Given the description of an element on the screen output the (x, y) to click on. 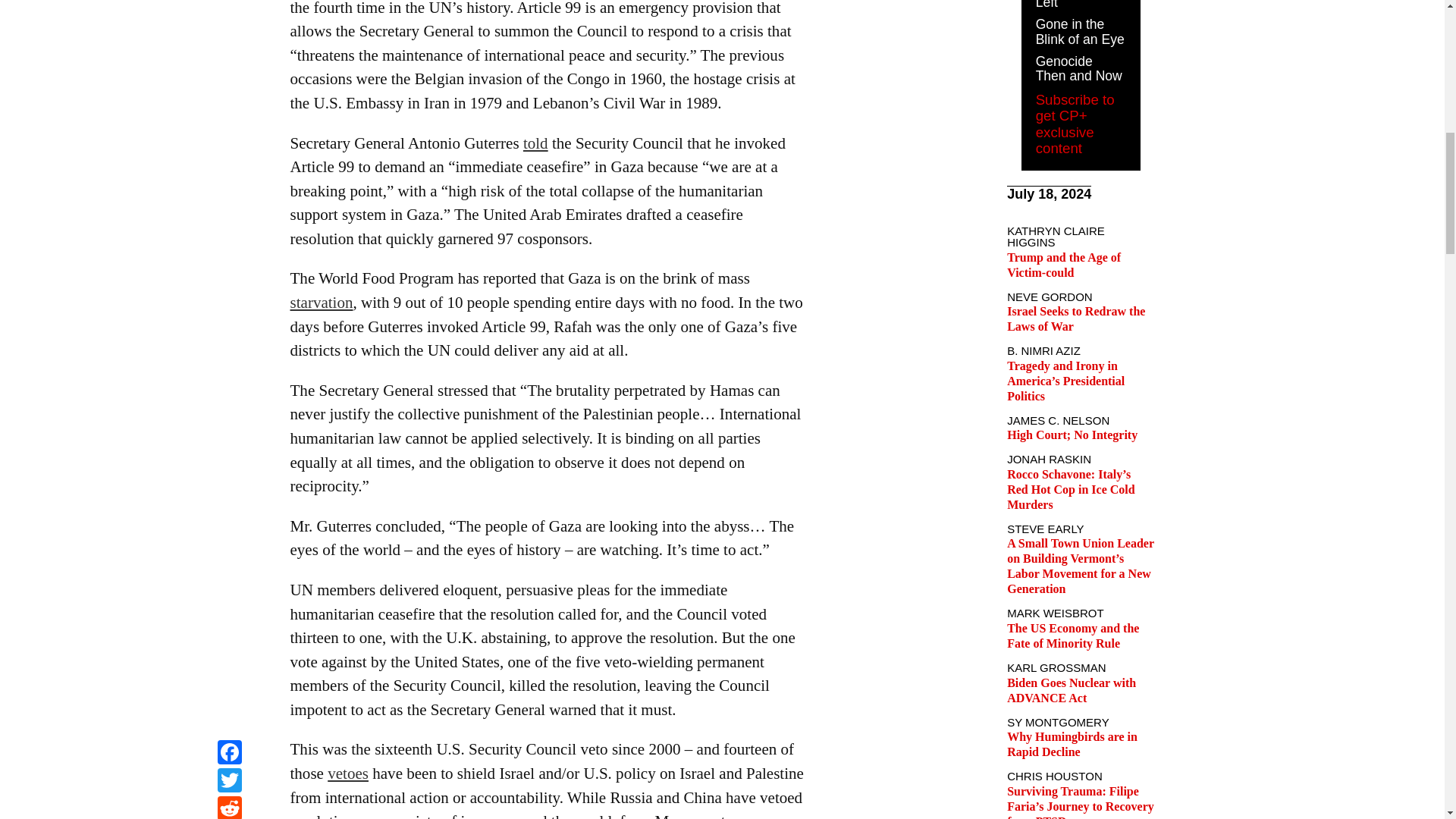
Email (229, 18)
Email (229, 18)
starvation (320, 302)
Reddit (229, 2)
vetoes (347, 773)
told (535, 142)
Reddit (229, 2)
